Given the description of an element on the screen output the (x, y) to click on. 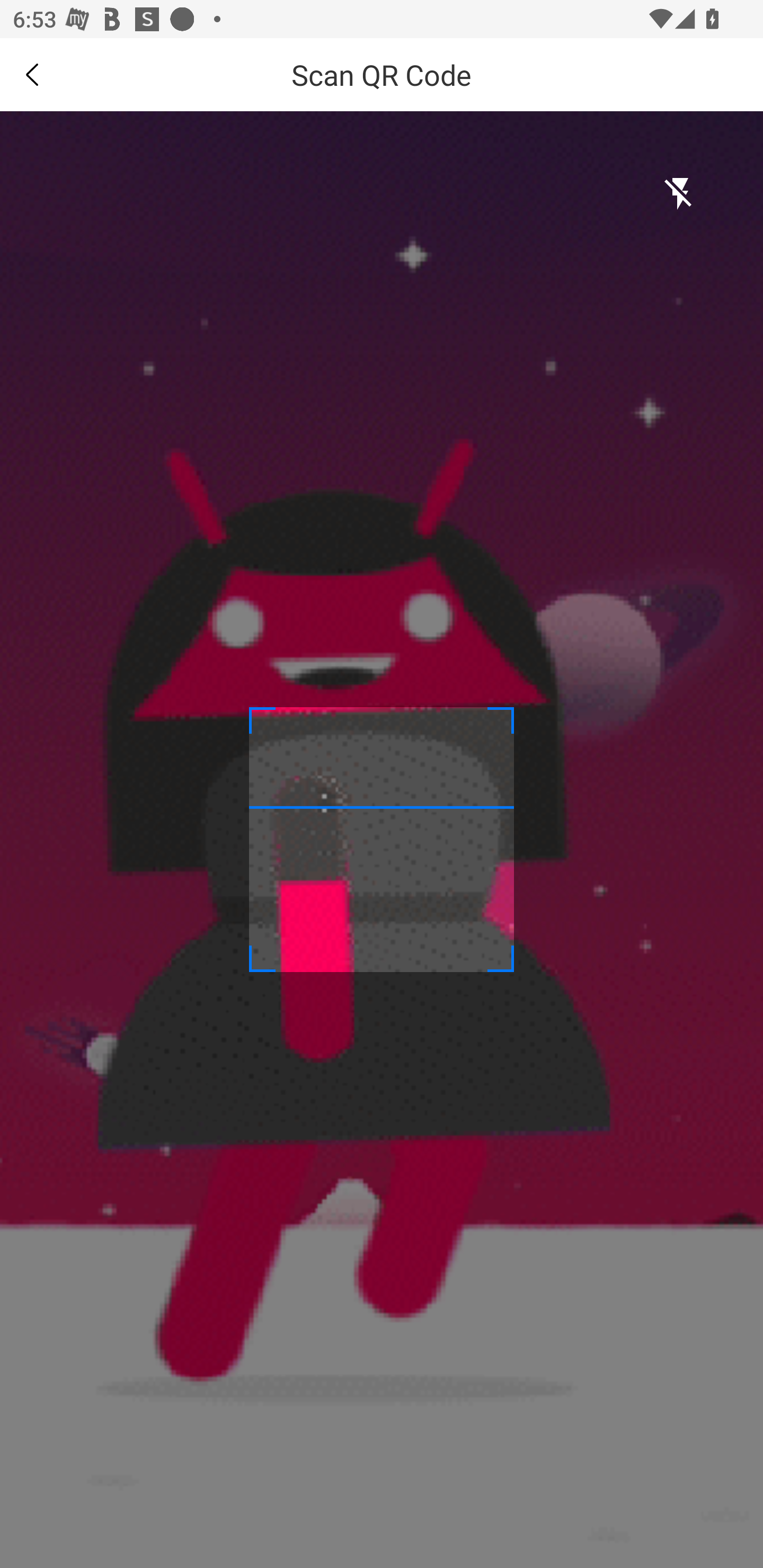
Back (31, 74)
